Given the description of an element on the screen output the (x, y) to click on. 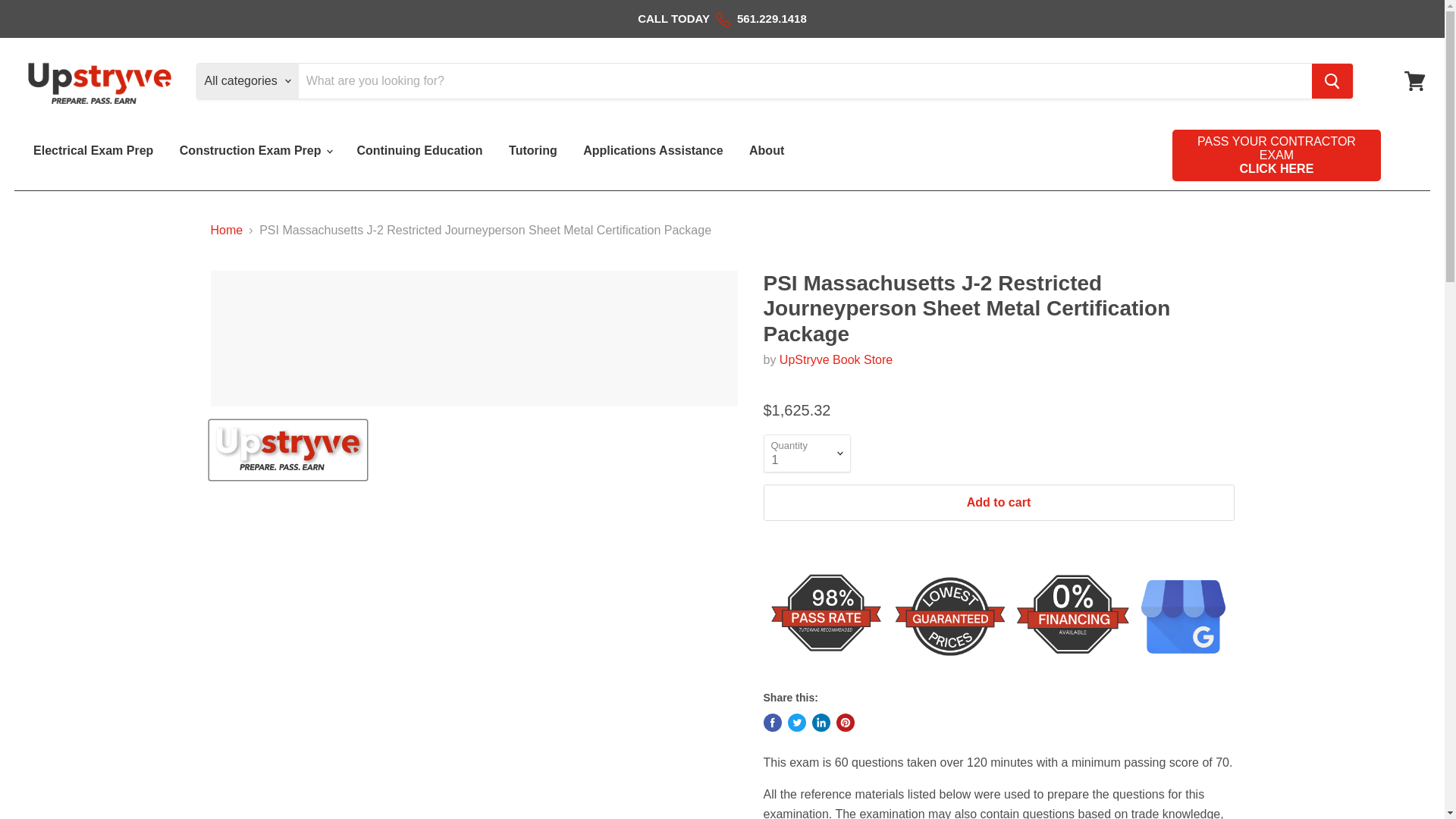
Tutoring (533, 151)
UpStryve Book Store (835, 359)
Construction Exam Prep (255, 151)
Home (1275, 162)
UpStryve Book Store (227, 230)
About (835, 359)
View cart (766, 151)
Applications Assistance (1414, 80)
Electrical Exam Prep (652, 151)
